Given the description of an element on the screen output the (x, y) to click on. 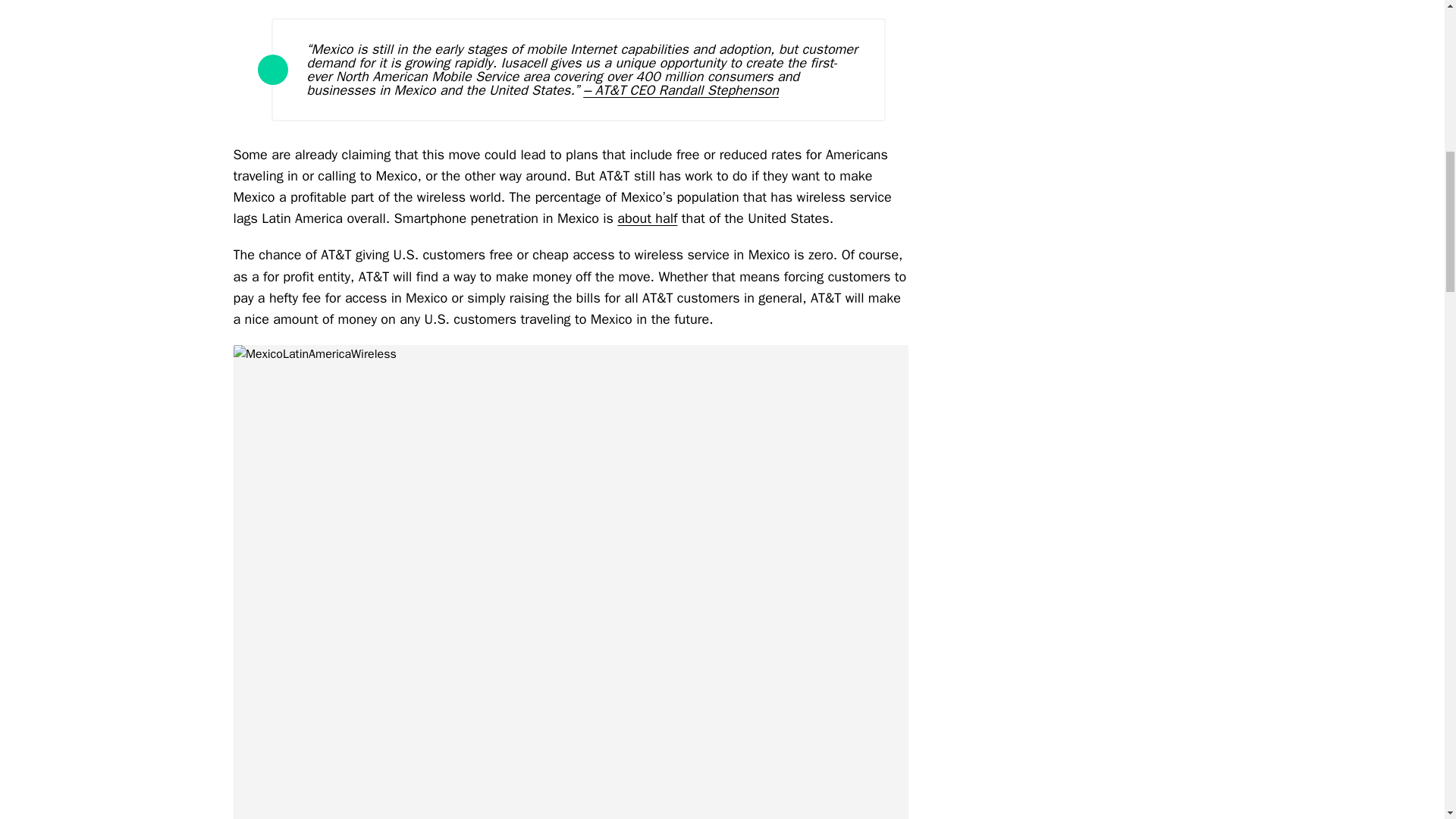
about half (647, 217)
